Given the description of an element on the screen output the (x, y) to click on. 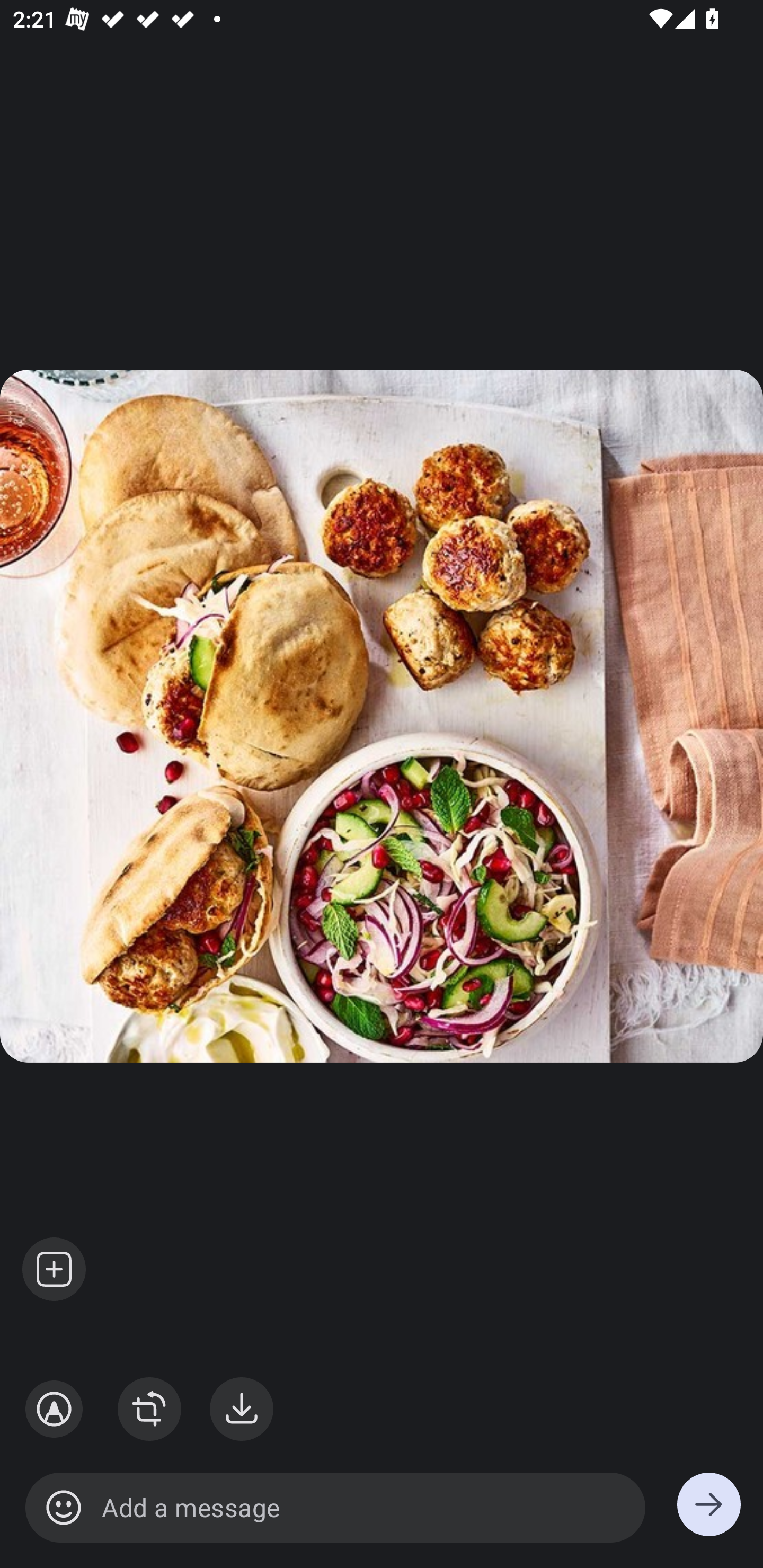
Add a message (335, 1507)
